Given the description of an element on the screen output the (x, y) to click on. 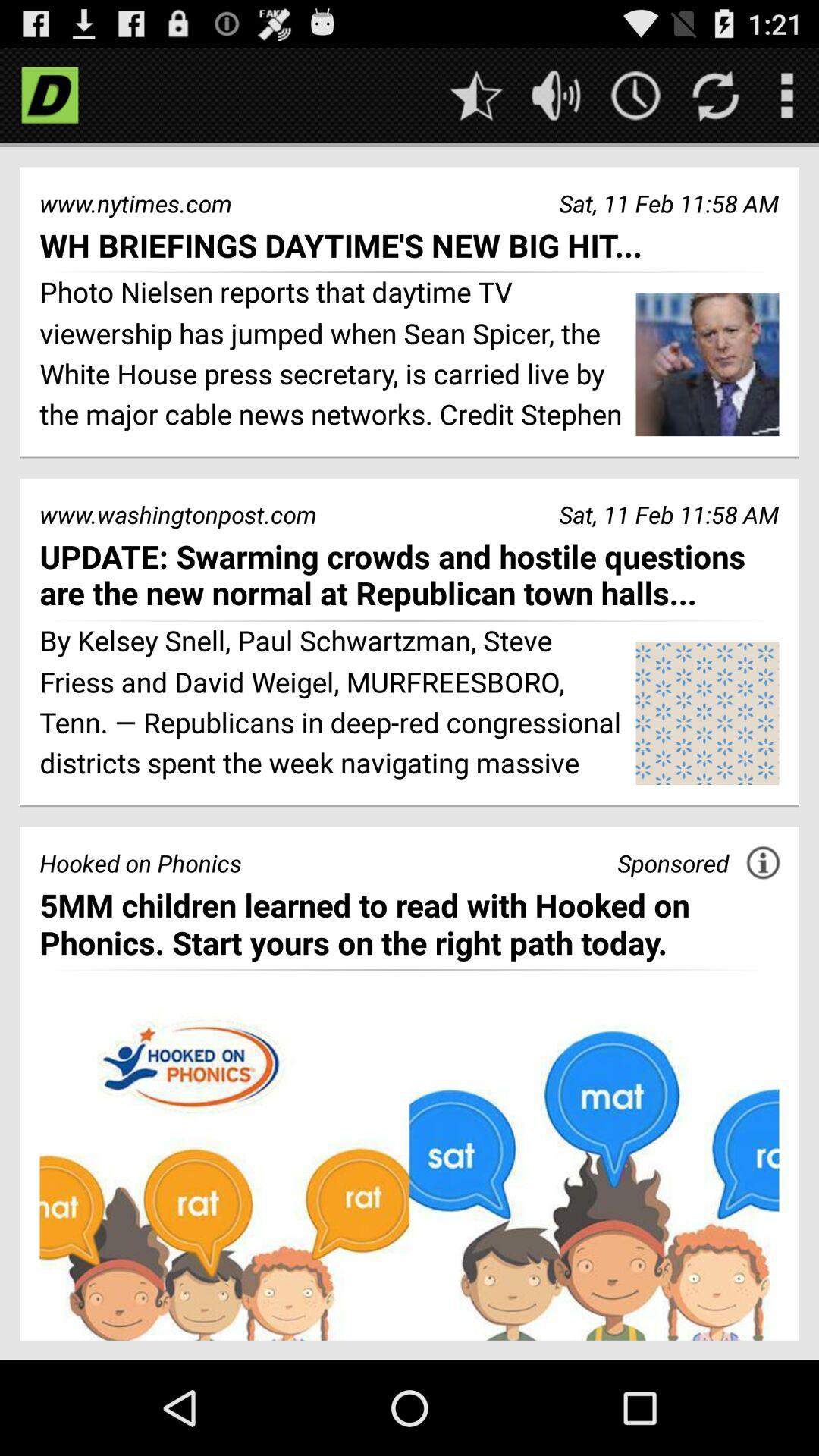
swipe to photo nielsen reports app (332, 356)
